Given the description of an element on the screen output the (x, y) to click on. 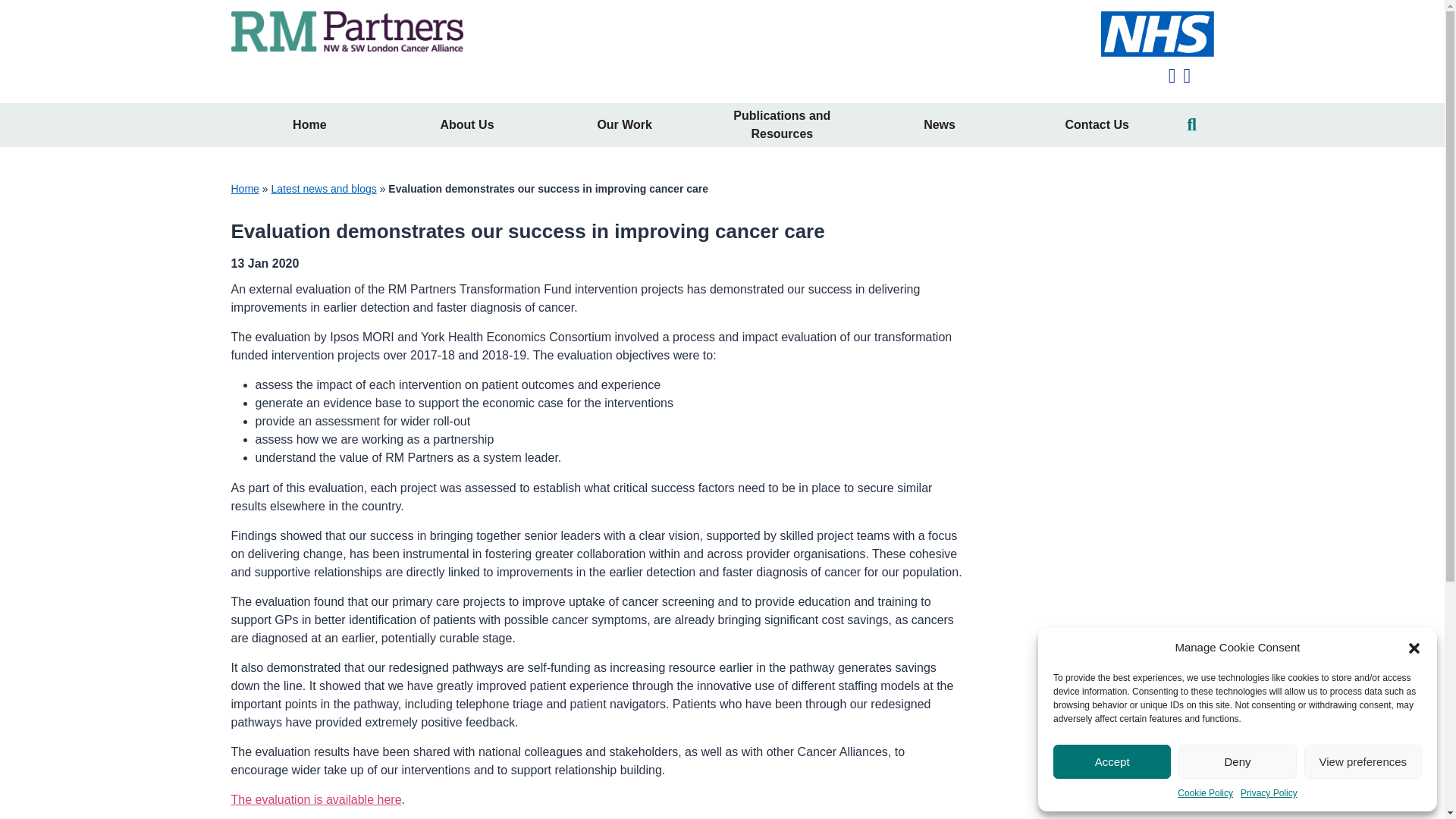
Cookie Policy (1205, 793)
About Us (467, 125)
Home (309, 125)
View preferences (1363, 761)
RM Partners (346, 38)
Accept (1111, 761)
Deny (1236, 761)
Privacy Policy (1268, 793)
Our Work (624, 125)
